Given the description of an element on the screen output the (x, y) to click on. 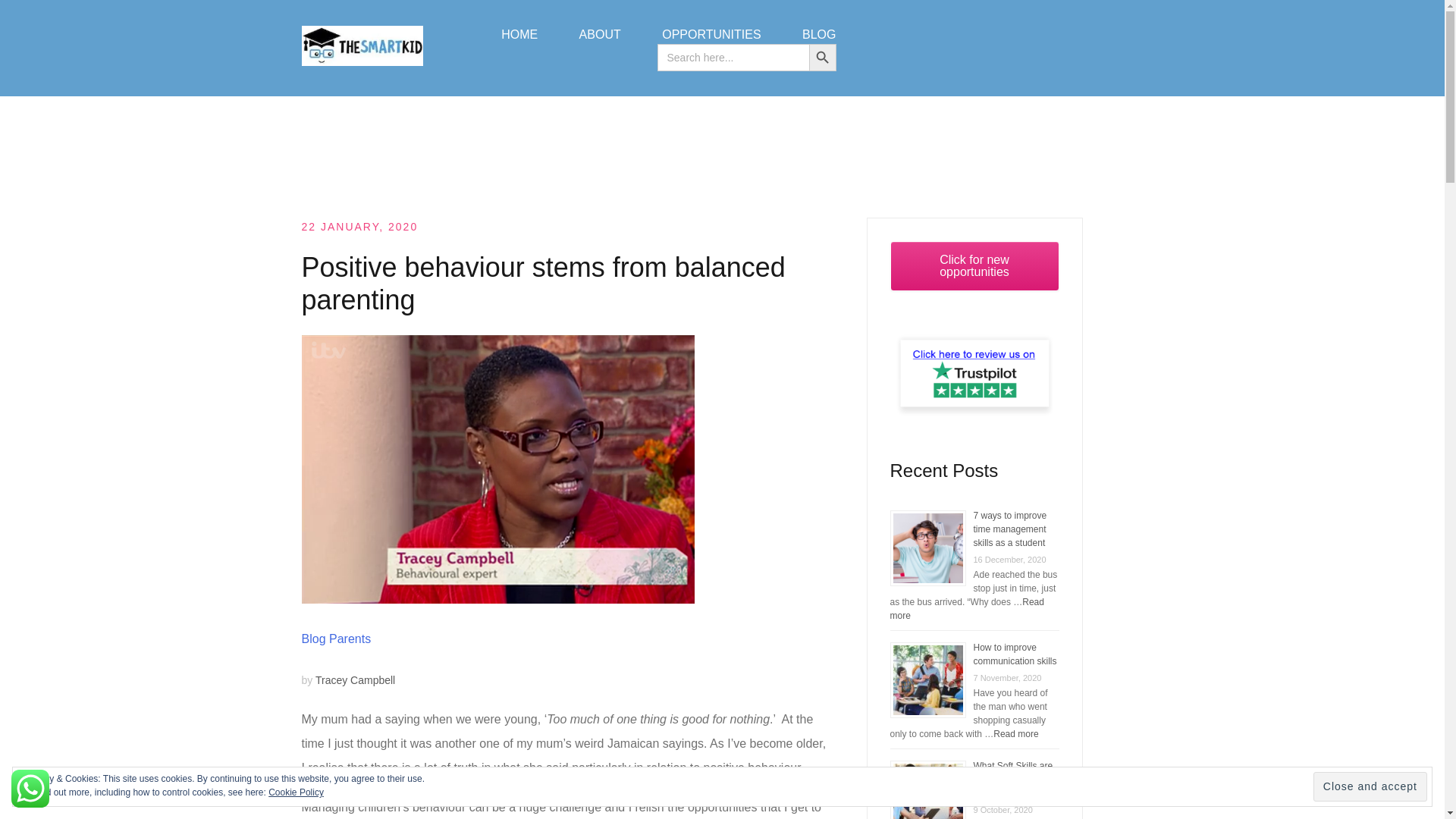
How to improve communication skills (1015, 654)
Read more (1015, 733)
Click for new opportunities (974, 265)
Tracey Campbell (354, 680)
Blog (313, 638)
7 ways to improve time management skills as a student (1010, 528)
Trustpilot (24, 35)
Close and accept (1369, 786)
SEARCH BUTTON (821, 57)
ABOUT (600, 34)
HOME (518, 34)
BLOG (818, 34)
What Soft Skills are and how to develop them (1013, 779)
OPPORTUNITIES (711, 34)
Read more (966, 608)
